Given the description of an element on the screen output the (x, y) to click on. 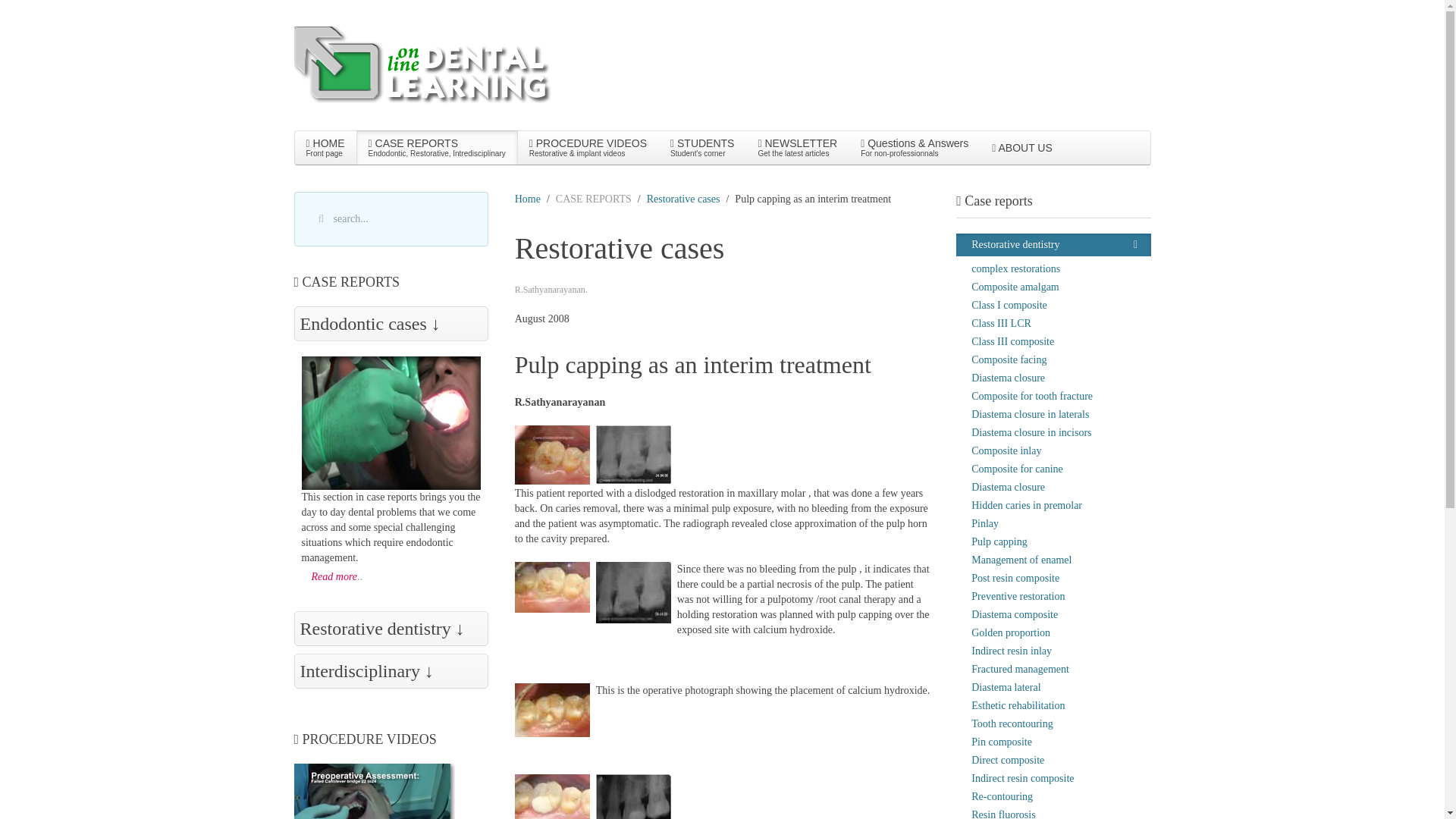
click to enlarge (437, 147)
click to enlarge (633, 454)
click to enlarge (701, 147)
click to enlarge (552, 796)
click to enlarge (633, 592)
click to enlarge (633, 796)
click to enlarge (552, 454)
